Given the description of an element on the screen output the (x, y) to click on. 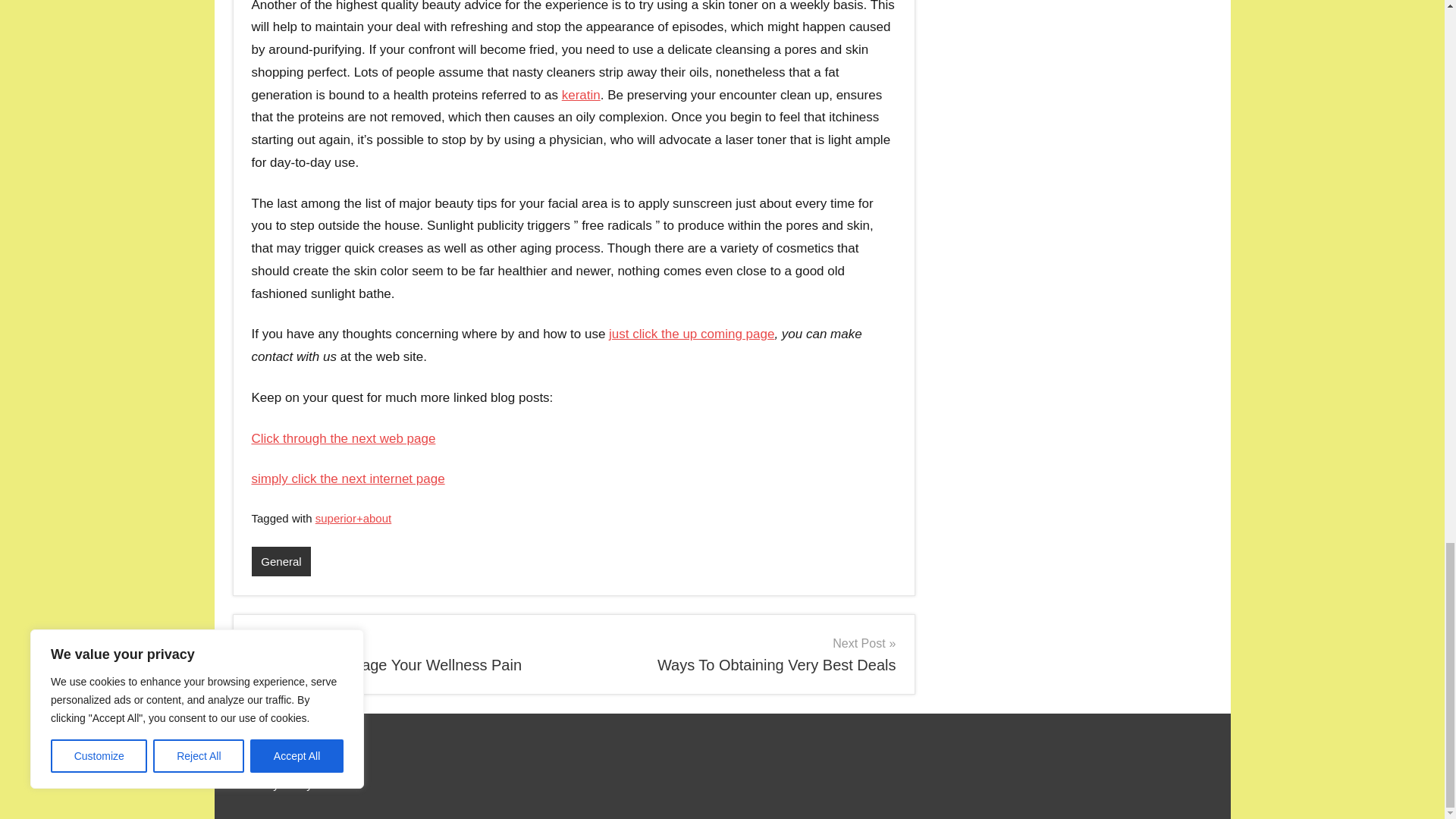
keratin (580, 94)
Click through the next web page (740, 654)
simply click the next internet page (406, 654)
General (343, 438)
just click the up coming page (348, 478)
